Given the description of an element on the screen output the (x, y) to click on. 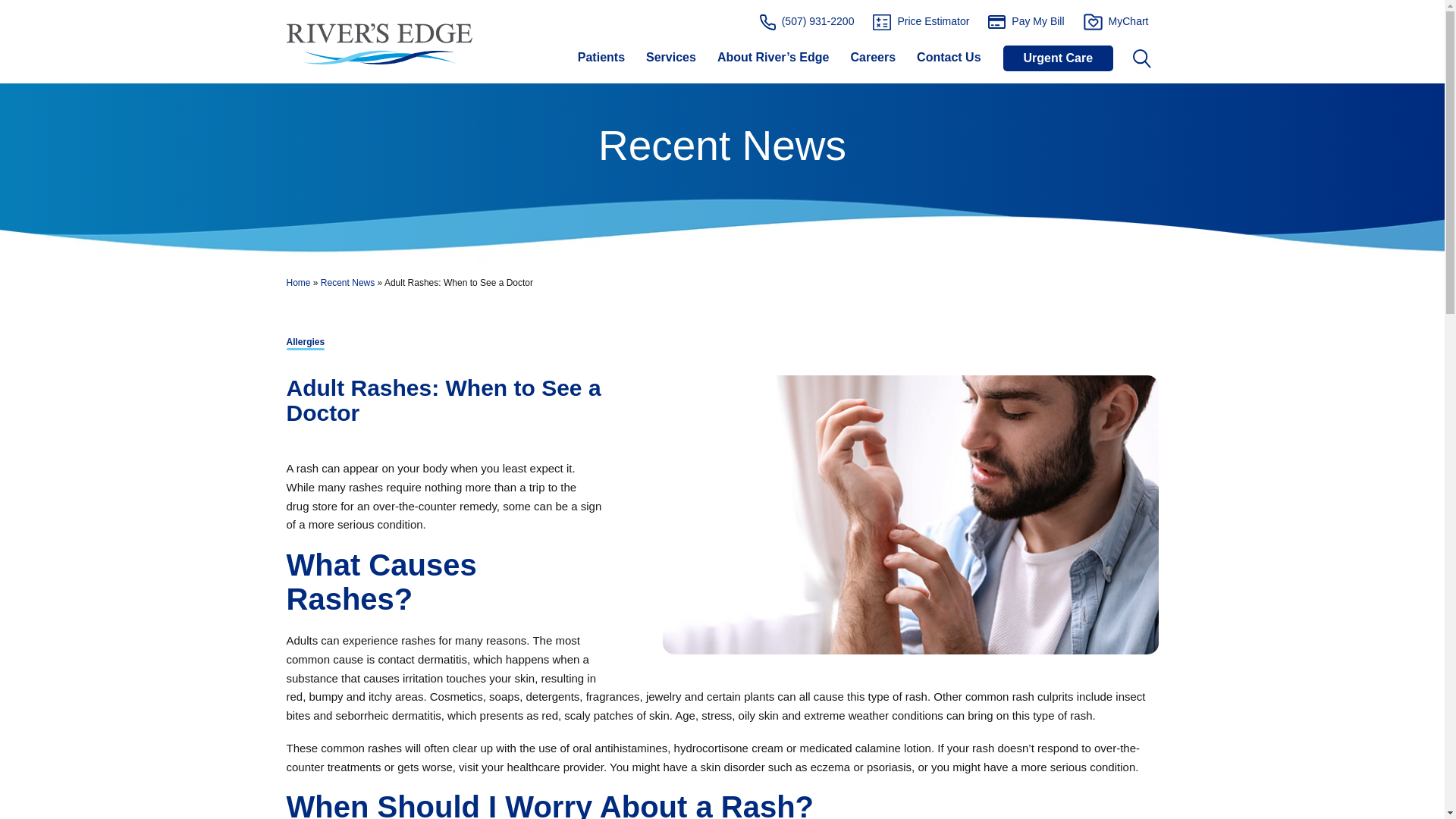
Pay My Bill (1026, 21)
Price Estimator (920, 21)
Patients (600, 62)
MyChart (1115, 21)
Services (670, 62)
